Given the description of an element on the screen output the (x, y) to click on. 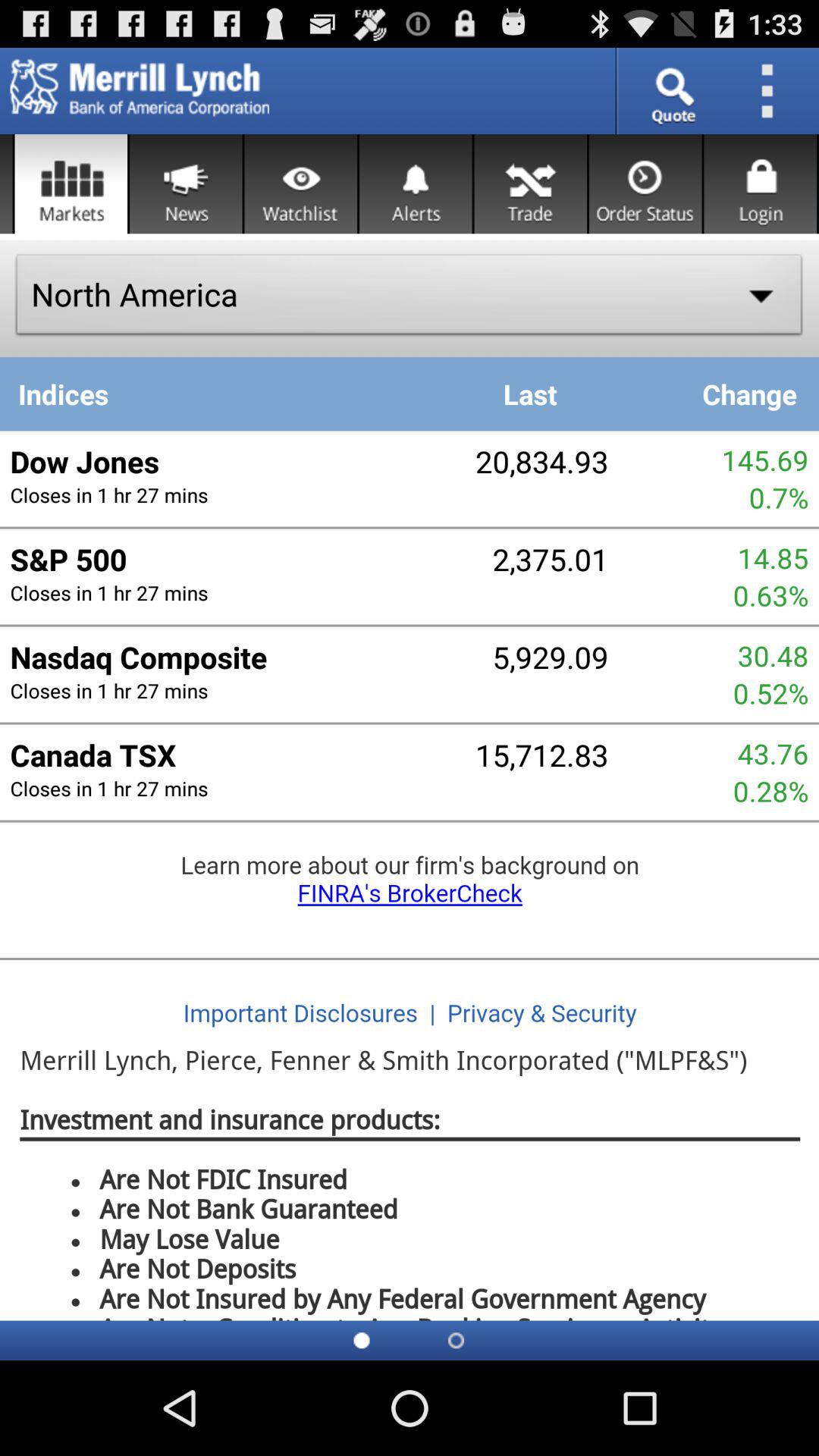
select the watchlist (300, 183)
